Given the description of an element on the screen output the (x, y) to click on. 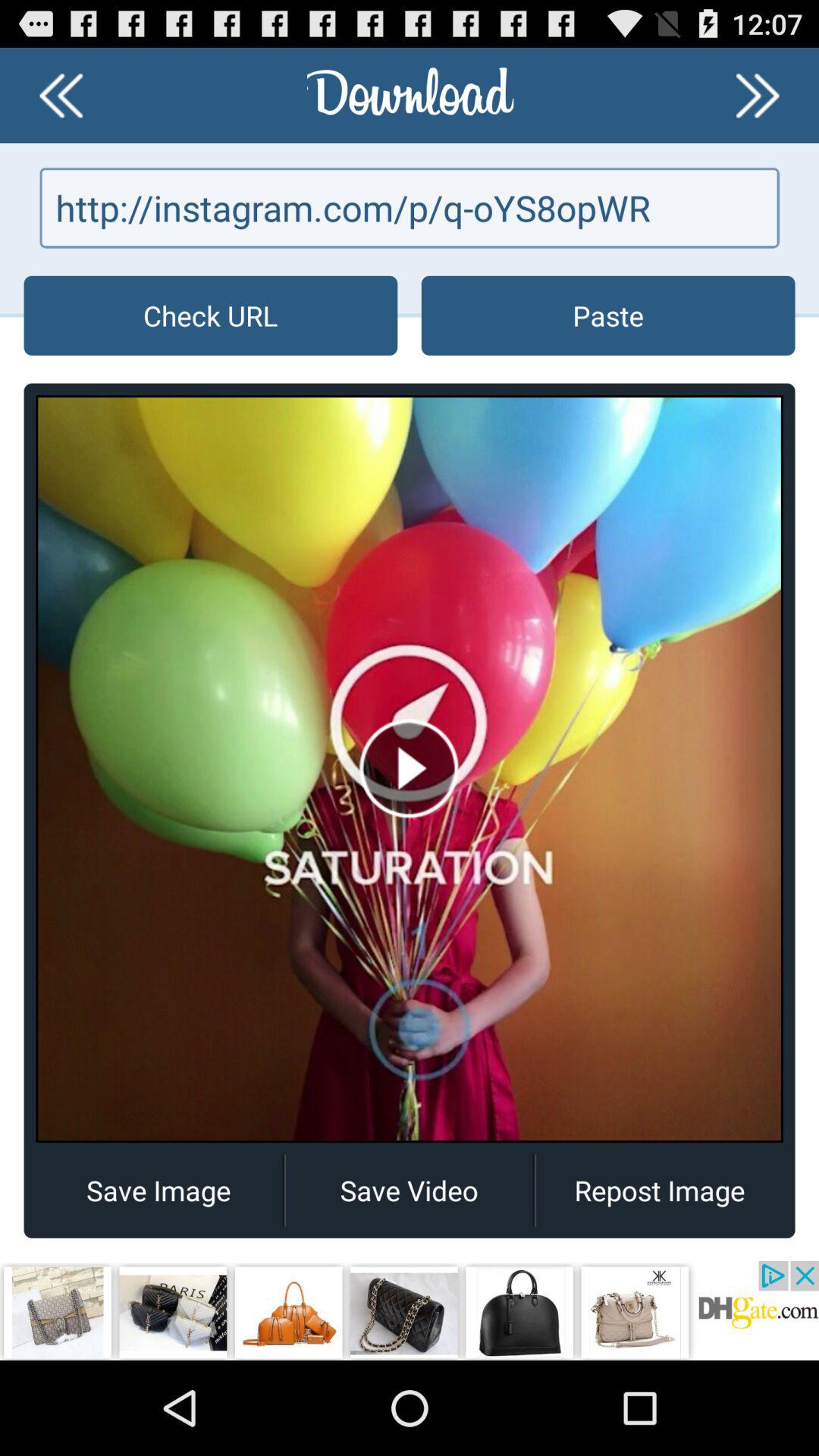
links to advertisement (409, 1310)
